Given the description of an element on the screen output the (x, y) to click on. 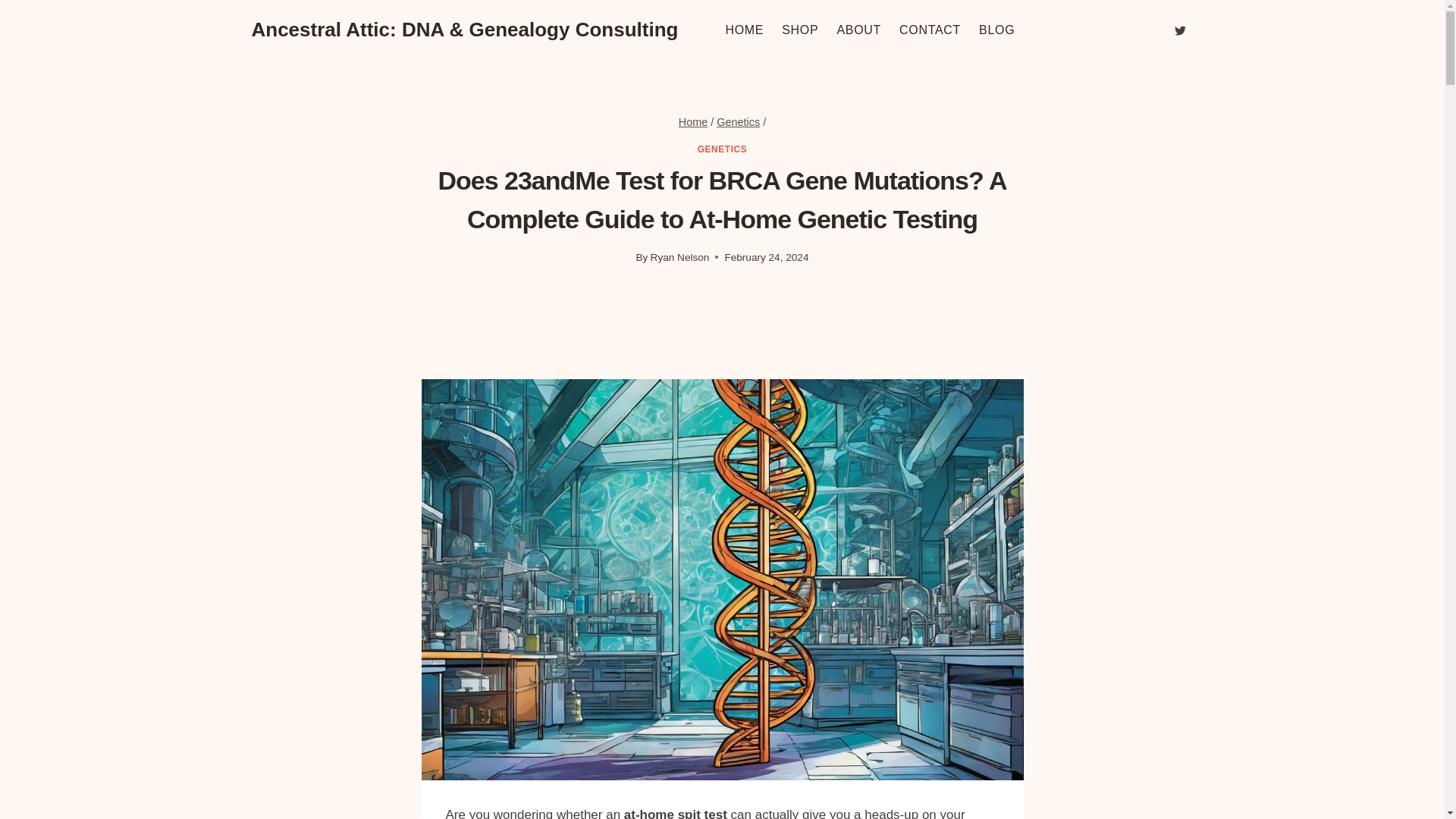
CONTACT (929, 30)
BLOG (996, 30)
SHOP (800, 30)
ABOUT (858, 30)
HOME (744, 30)
Genetics (738, 121)
GENETICS (722, 149)
Home (692, 121)
Ryan Nelson (680, 256)
